Given the description of an element on the screen output the (x, y) to click on. 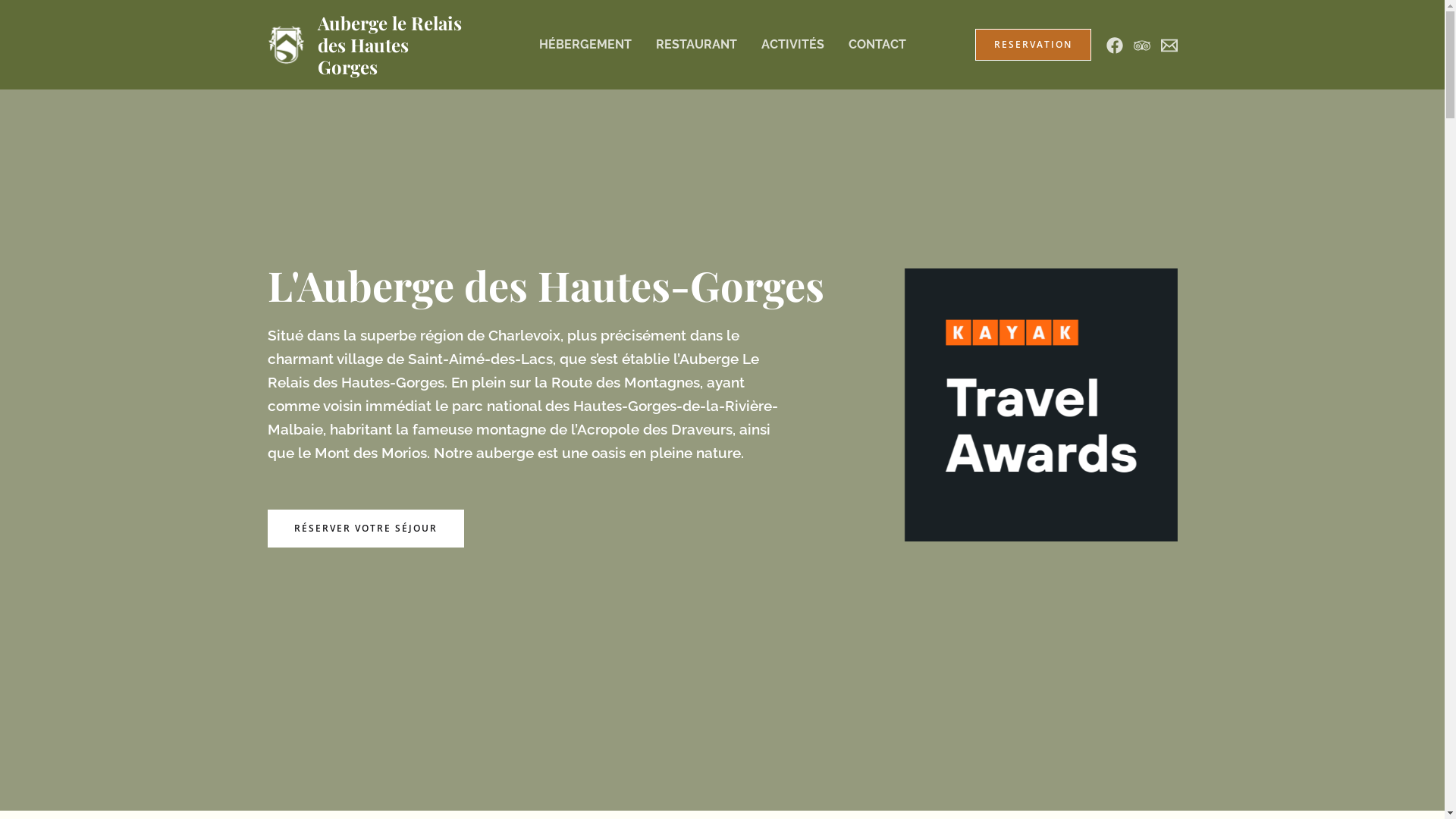
Auberge le Relais des Hautes Gorges Element type: text (388, 44)
RESTAURANT Element type: text (695, 44)
RESERVATION Element type: text (1033, 44)
CONTACT Element type: text (876, 44)
